Given the description of an element on the screen output the (x, y) to click on. 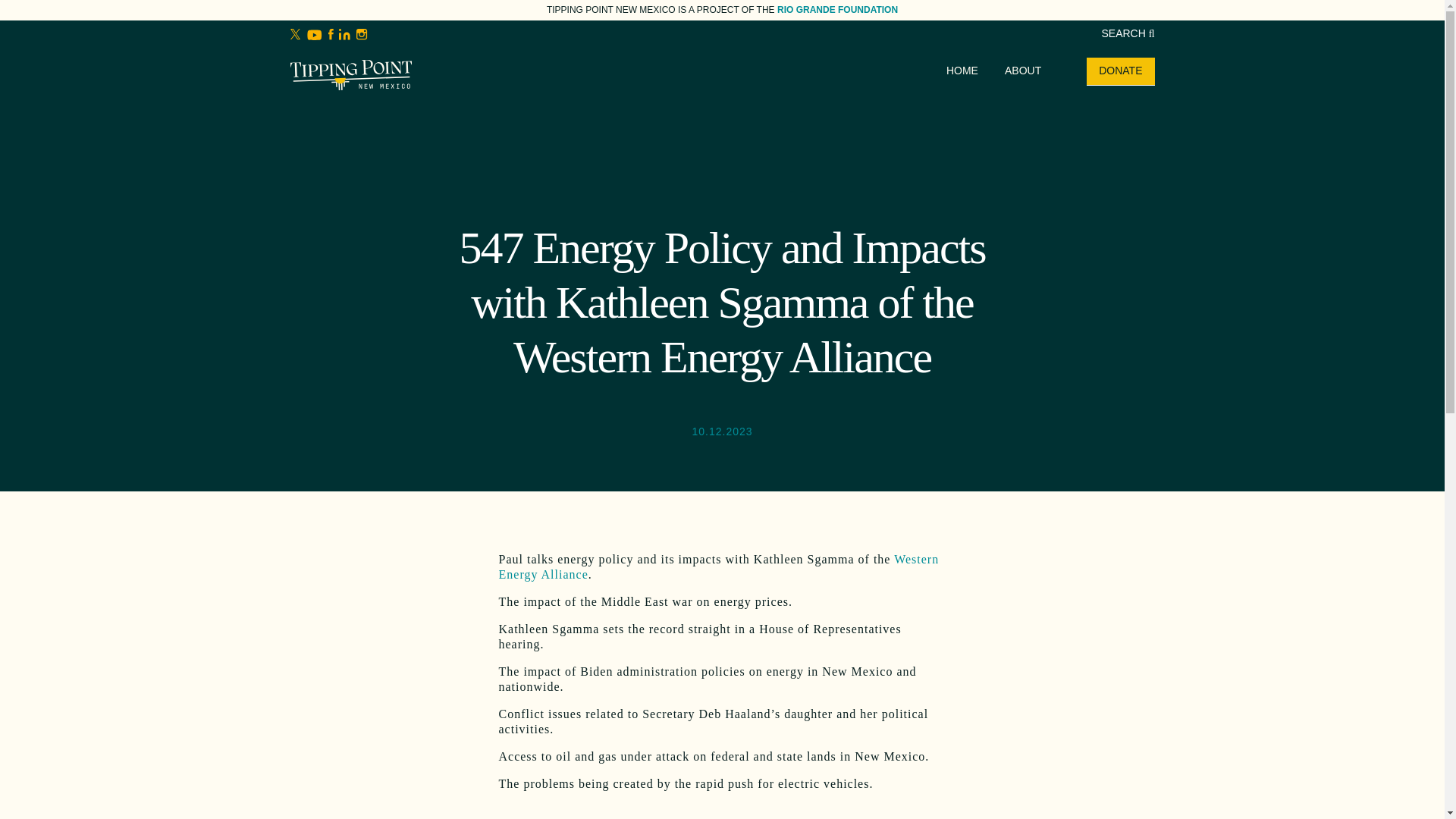
HOME (962, 70)
SEARCH (1127, 33)
DONATE (1120, 70)
RIO GRANDE FOUNDATION (837, 9)
ABOUT (1022, 70)
Western Energy Alliance (719, 566)
